Given the description of an element on the screen output the (x, y) to click on. 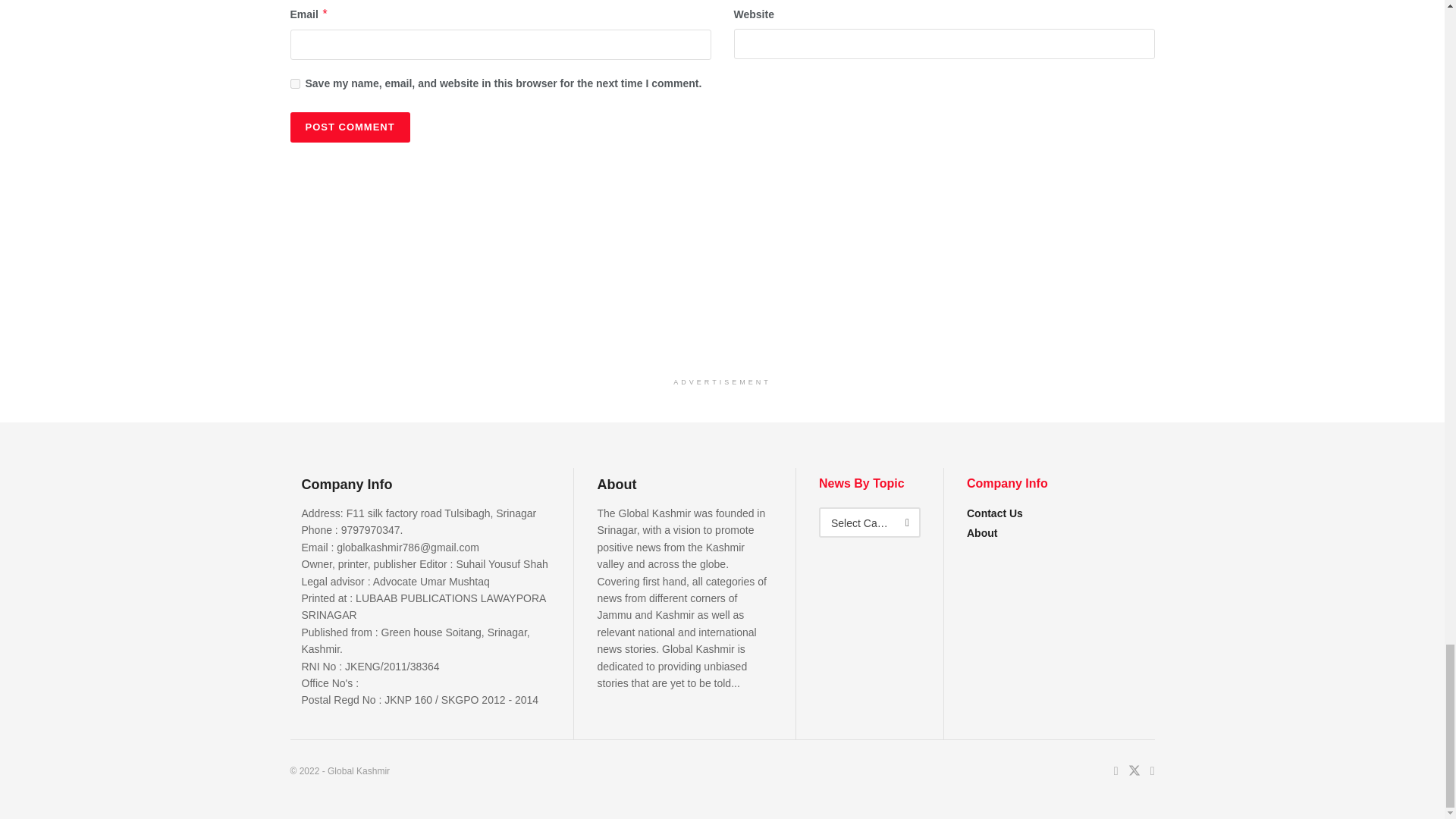
yes (294, 83)
Post Comment (349, 127)
